Given the description of an element on the screen output the (x, y) to click on. 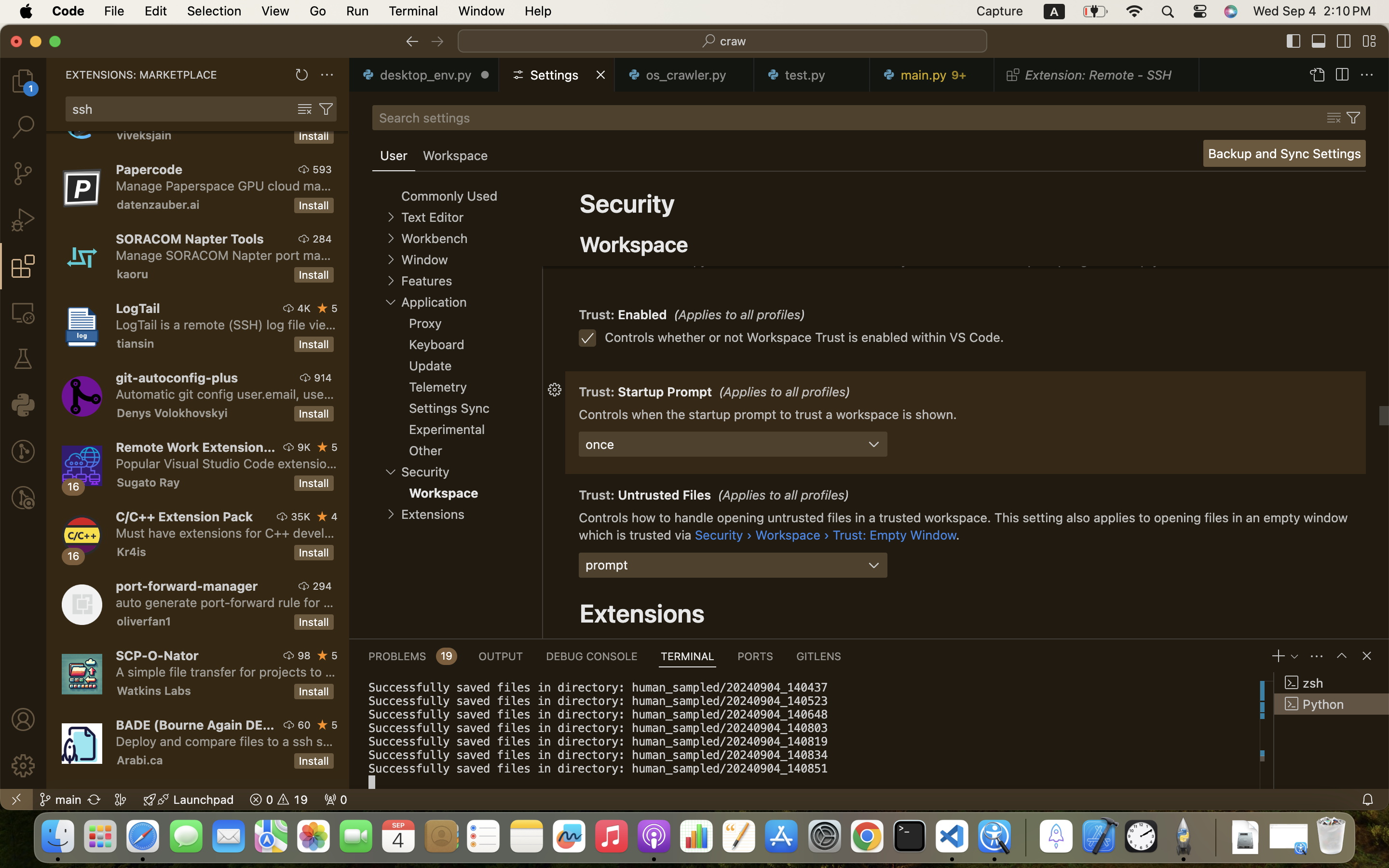
Text Editor Element type: AXStaticText (432, 217)
Application Element type: AXStaticText (433, 302)
main  Element type: AXButton (59, 799)
viveksjain Element type: AXStaticText (143, 136)
1 Settings   Element type: AXRadioButton (557, 74)
